Given the description of an element on the screen output the (x, y) to click on. 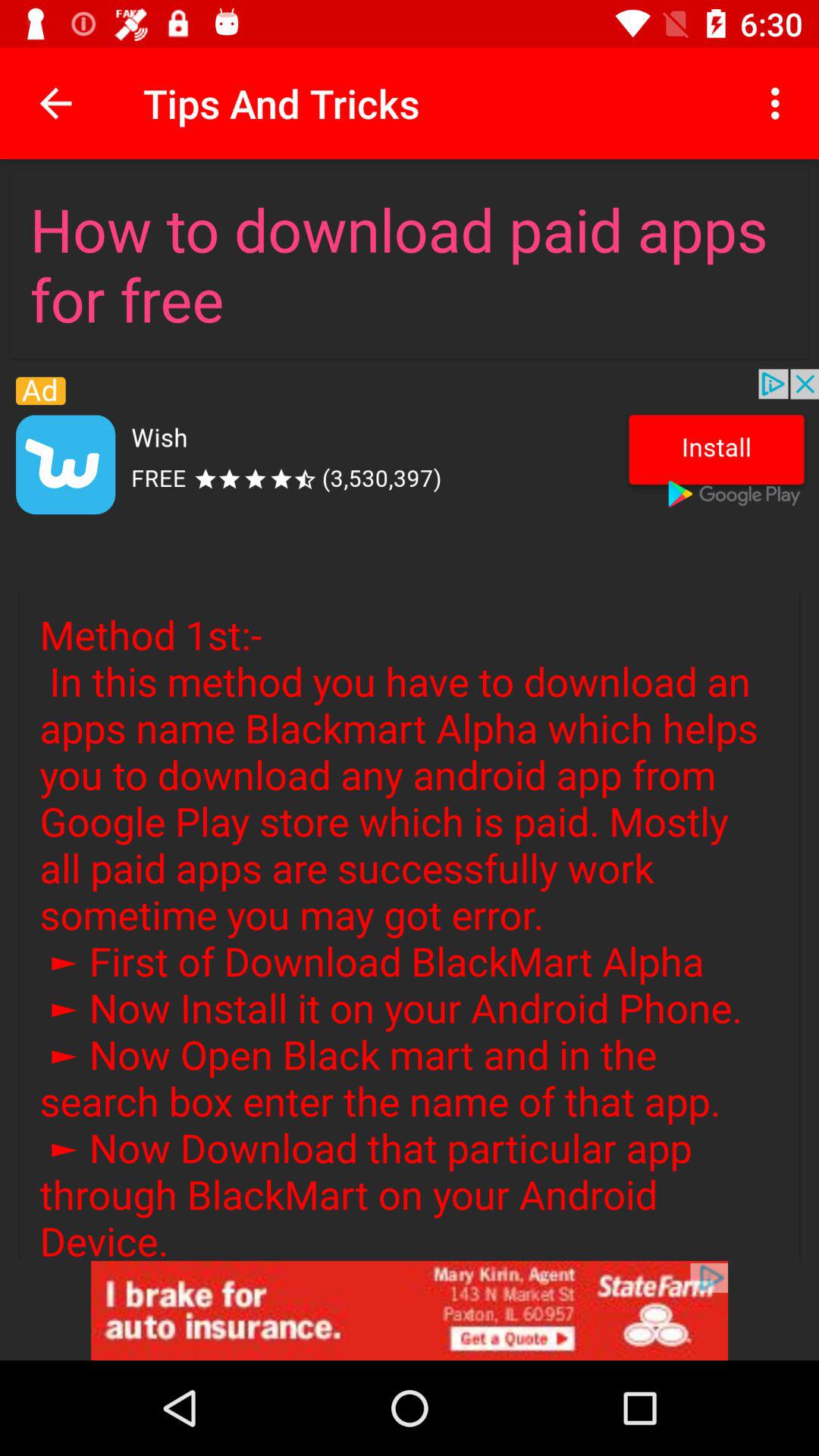
application (409, 448)
